Given the description of an element on the screen output the (x, y) to click on. 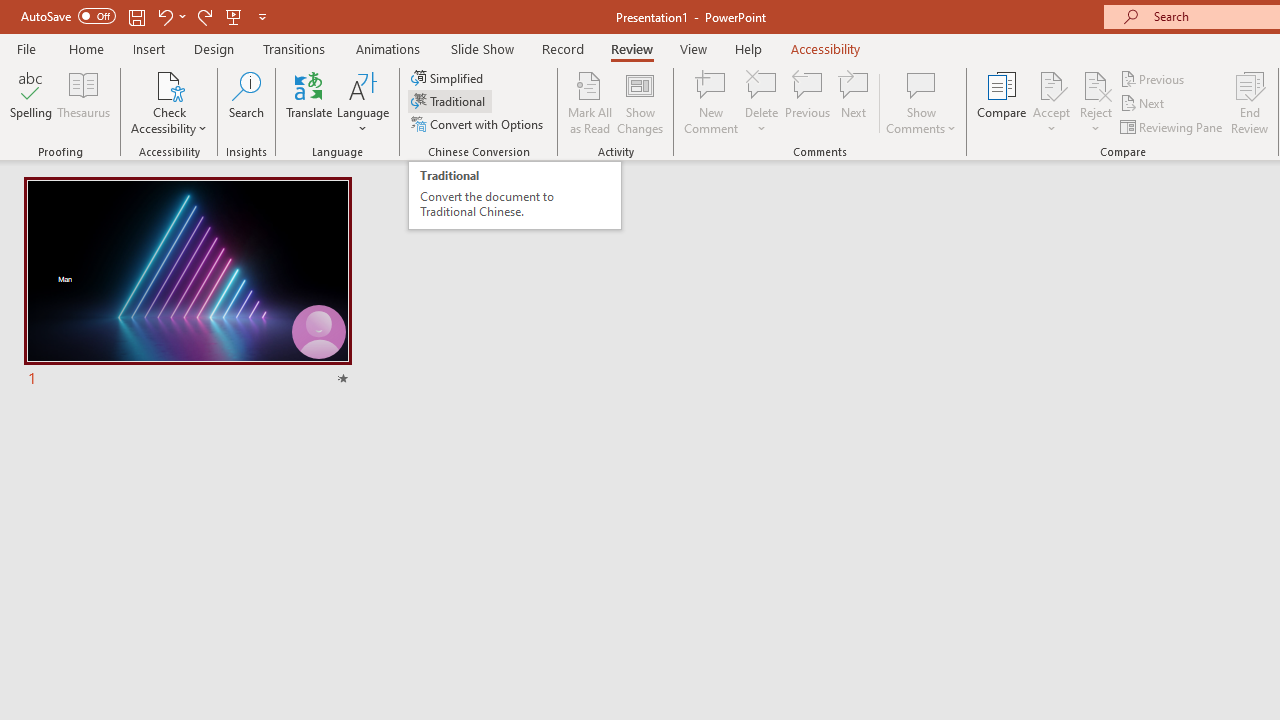
Show Comments (921, 84)
Accept Change (1051, 84)
Thesaurus... (83, 102)
New Comment (711, 102)
Translate (309, 102)
Delete (762, 84)
Mark All as Read (589, 102)
Convert with Options... (479, 124)
